Given the description of an element on the screen output the (x, y) to click on. 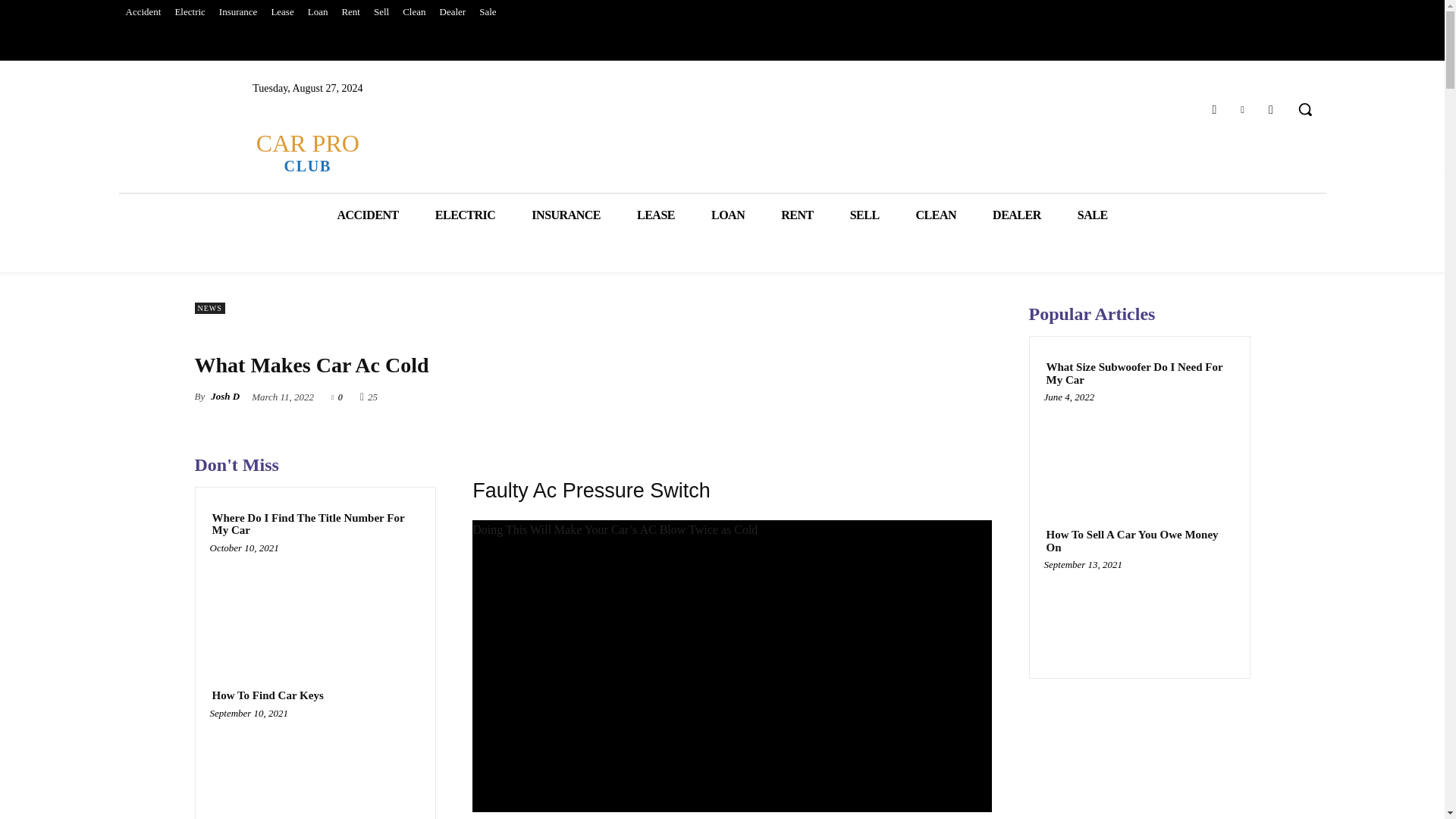
Dealer (452, 12)
Electric (306, 151)
Facebook (189, 12)
Insurance (1214, 109)
Rent (238, 12)
Where Do I Find The Title Number For My Car (350, 12)
Clean (314, 524)
Twitter (414, 12)
Accident (1241, 109)
